Given the description of an element on the screen output the (x, y) to click on. 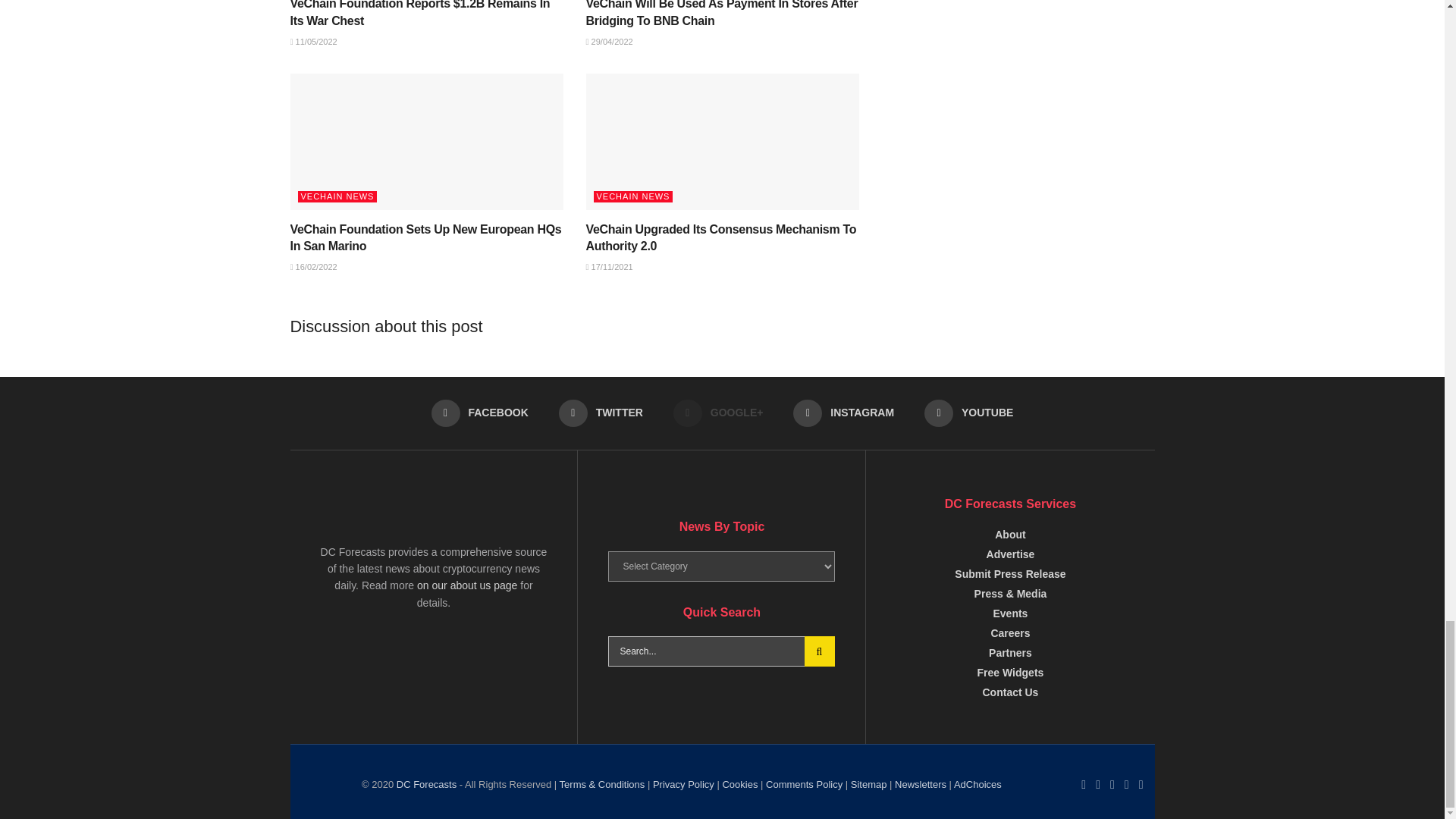
Newsletters (920, 784)
Comments  Policy (804, 784)
Privacy Policy  (683, 784)
Cookies  (739, 784)
Sitemap (868, 784)
Newsletters (977, 784)
